Given the description of an element on the screen output the (x, y) to click on. 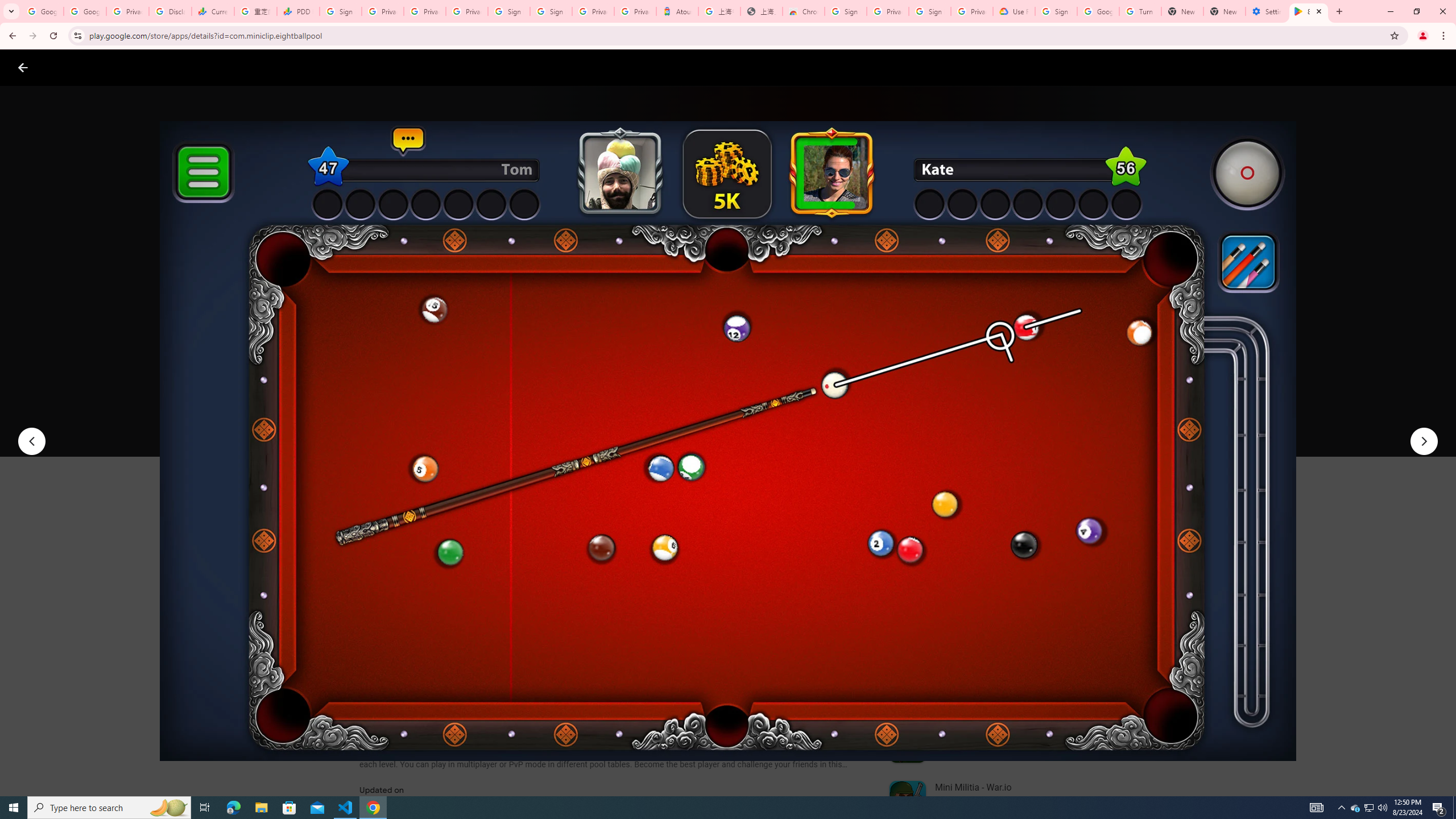
See more information on More by Miniclip.com (1029, 539)
Share (506, 422)
Next (1424, 441)
Previous (31, 441)
Add to wishlist (576, 422)
Sign in - Google Accounts (1055, 11)
Close screenshot viewer (22, 67)
Help Center (1409, 67)
Apps (182, 67)
Privacy Checkup (424, 11)
